Given the description of an element on the screen output the (x, y) to click on. 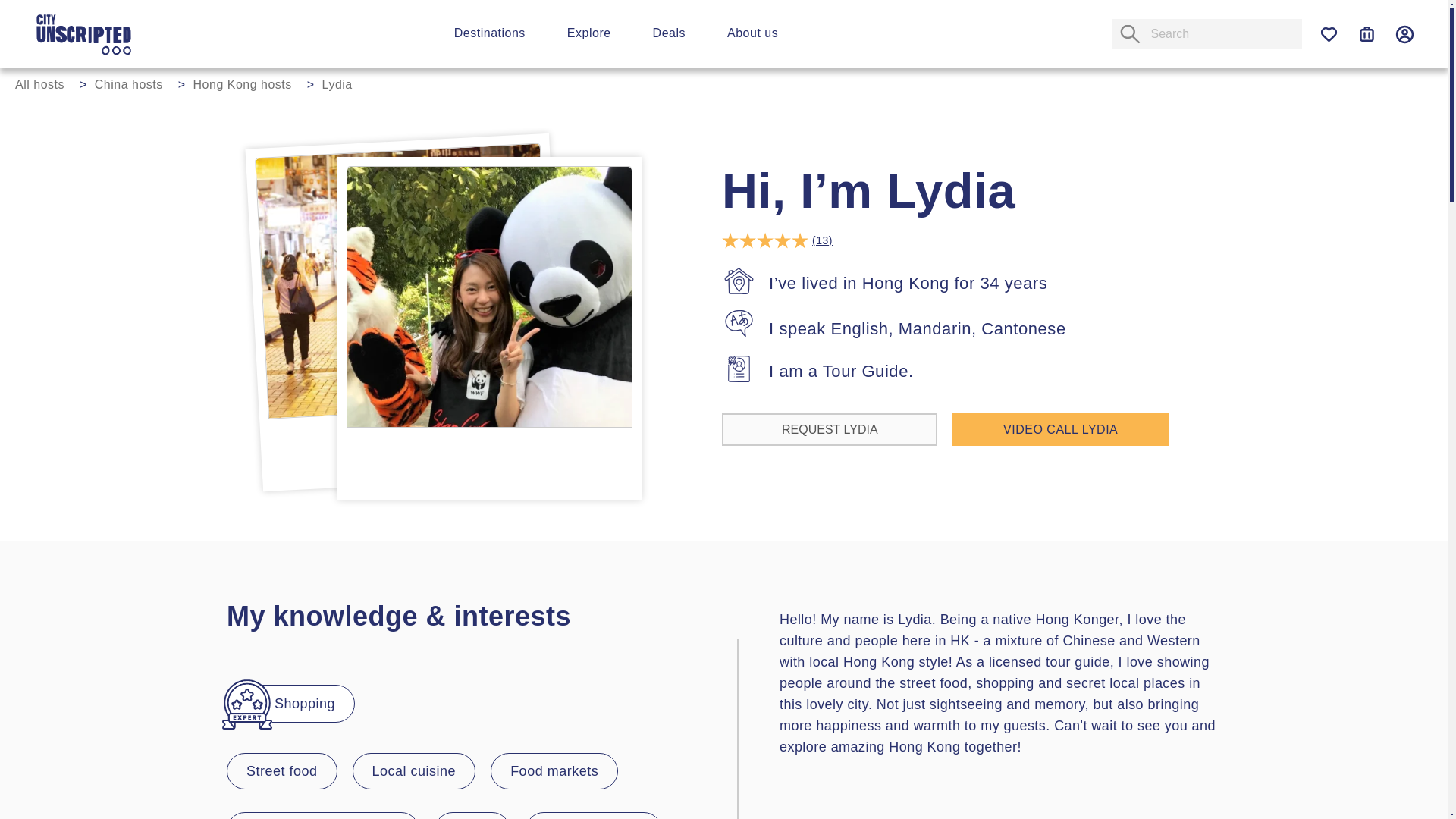
Deals (668, 32)
About us (751, 32)
Destinations (489, 32)
Go to suitcase (1366, 33)
Explore (589, 32)
Hong Kong hosts (250, 83)
All hosts (47, 83)
